Given the description of an element on the screen output the (x, y) to click on. 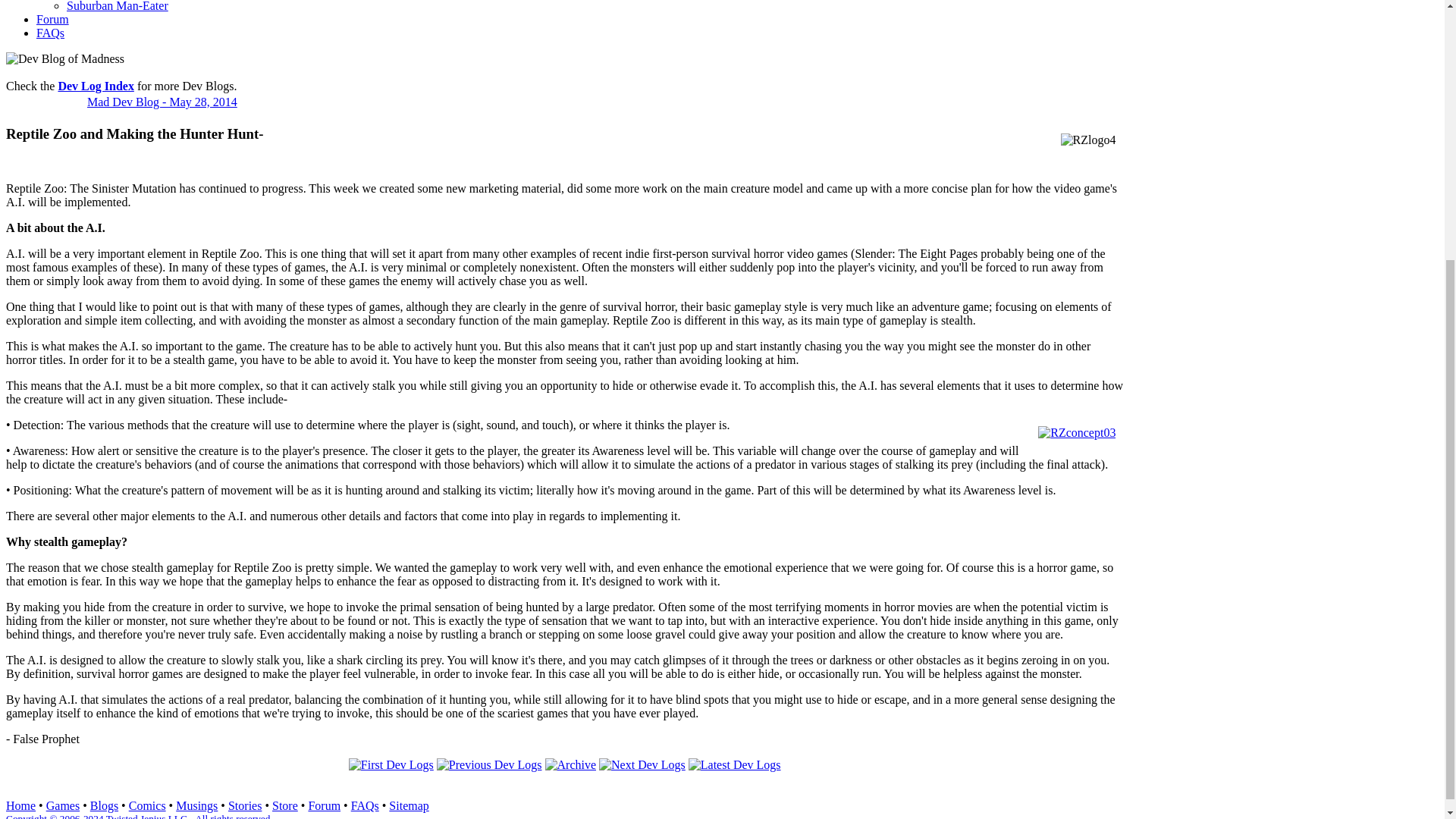
Dev Log Index (95, 85)
Mad Dev Blog - May 28, 2014 (162, 101)
Sitemap (408, 805)
Blogs (103, 805)
FAQs (364, 805)
Games (63, 805)
Comics (147, 805)
Home (19, 805)
Forum (323, 805)
Store (285, 805)
Forum (52, 19)
FAQs (50, 32)
Musings (196, 805)
Suburban Man-Eater (117, 6)
Stories (245, 805)
